Given the description of an element on the screen output the (x, y) to click on. 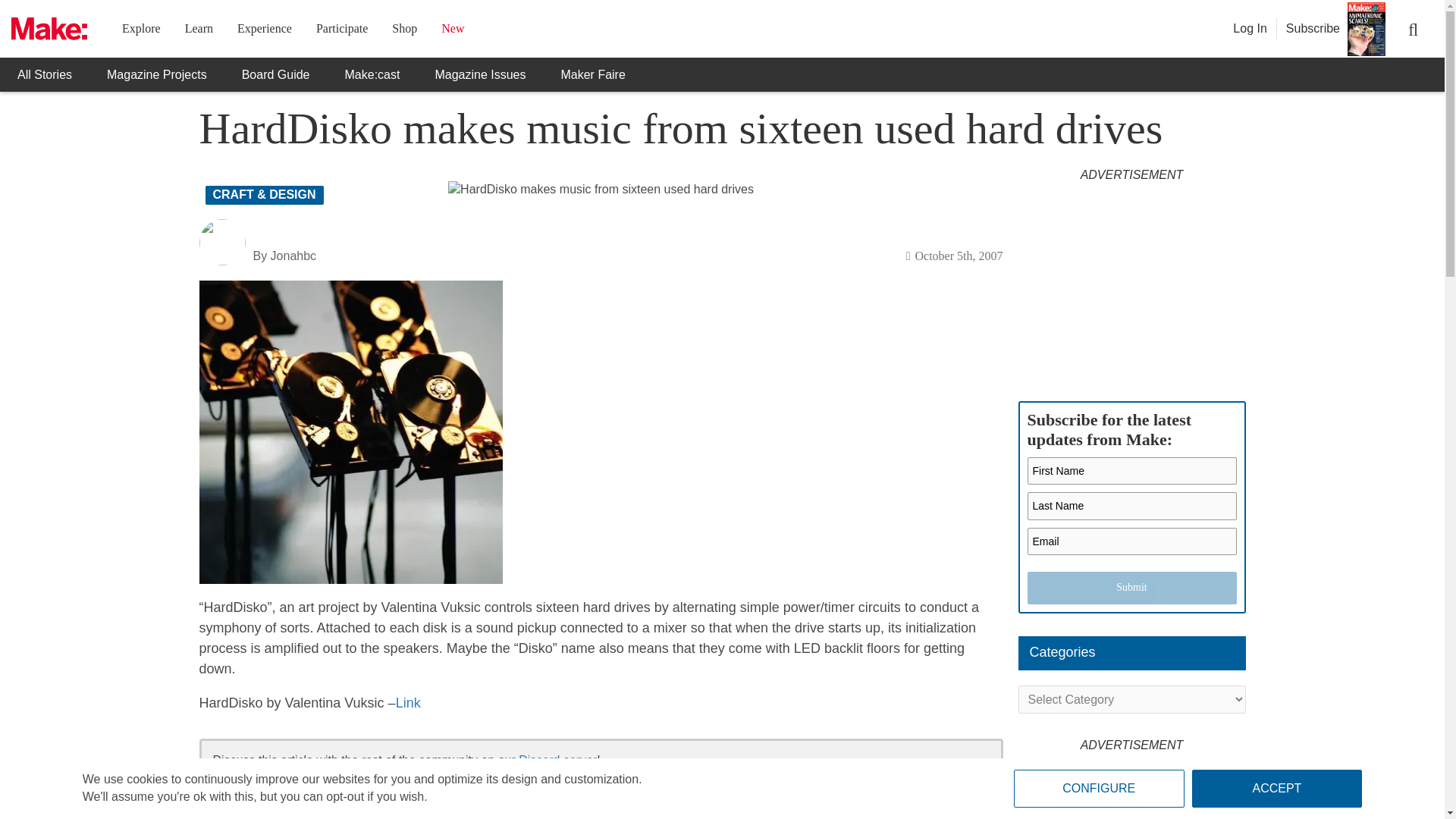
Experience (264, 28)
Board Guide (275, 74)
3rd party ad content (1130, 283)
Learn (198, 28)
Maker Faire (592, 74)
Magazine Projects (156, 74)
Explore (141, 28)
All Stories (44, 74)
Log In (1249, 28)
Magazine Issues (479, 74)
Make:cast (372, 74)
Participate (341, 28)
